Given the description of an element on the screen output the (x, y) to click on. 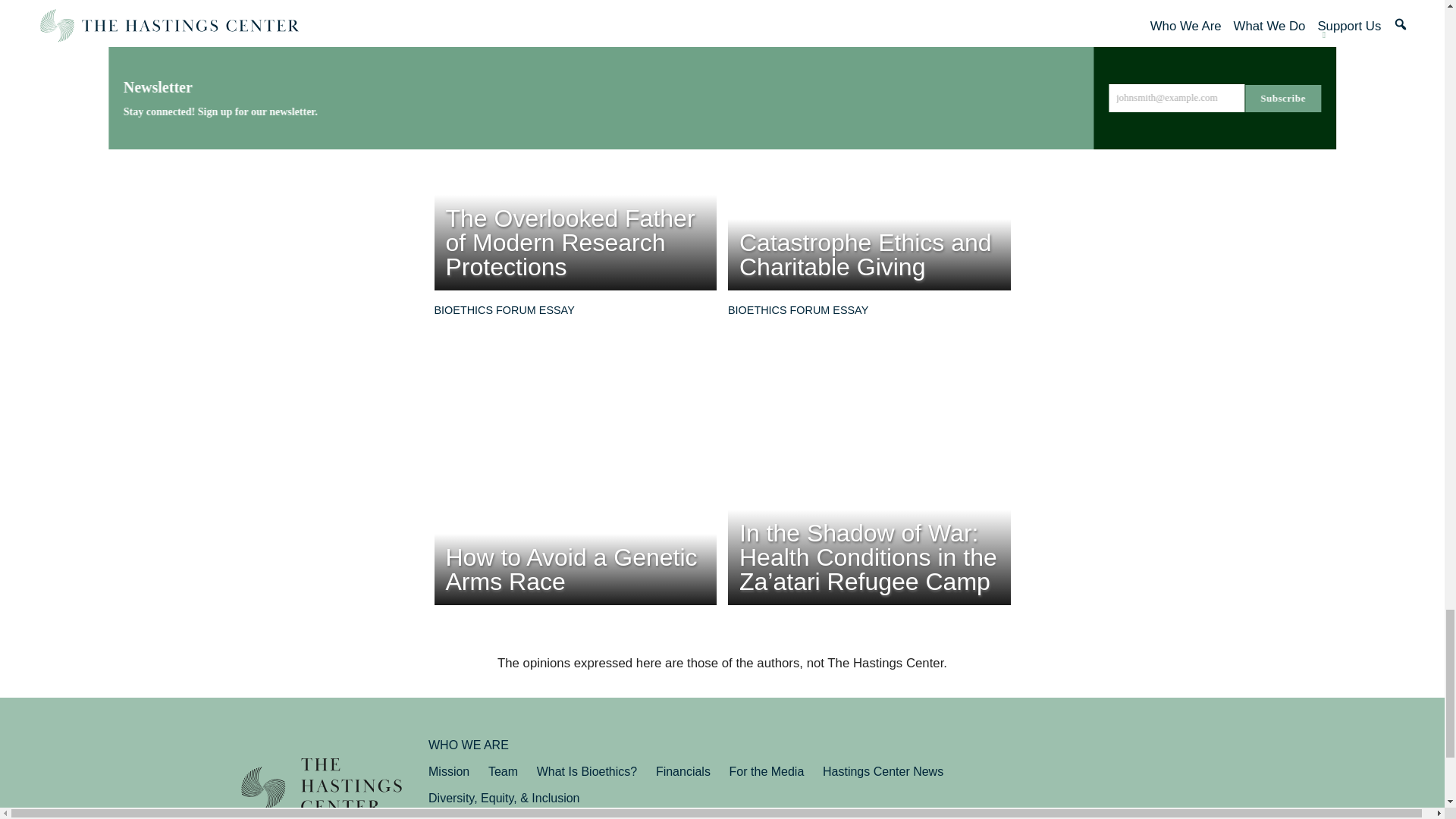
The Hastings Center (321, 788)
